Given the description of an element on the screen output the (x, y) to click on. 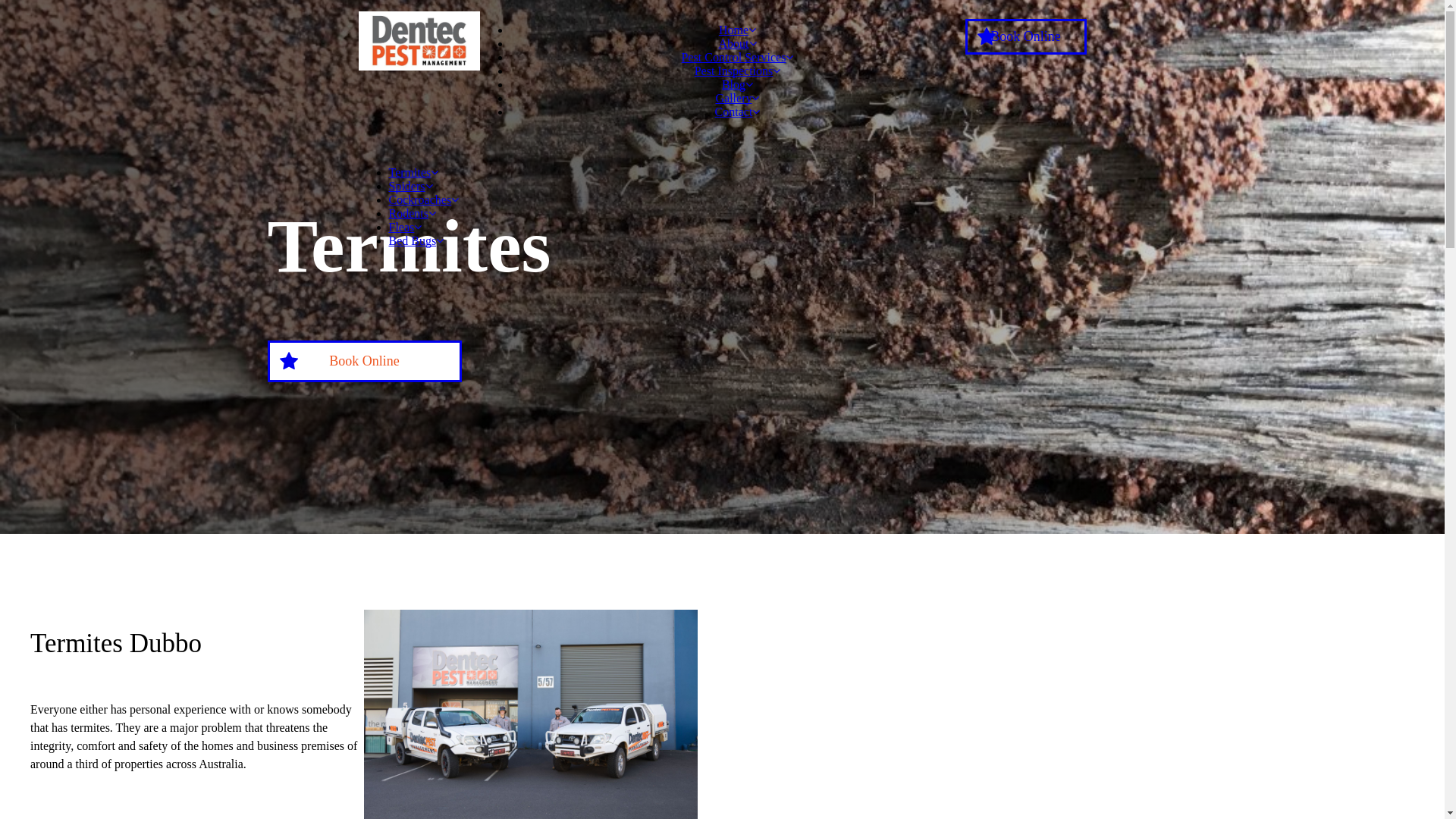
Rodents Element type: text (411, 213)
Pest Inspections Element type: text (737, 70)
Pest Control Services Element type: text (737, 56)
Termites Element type: text (413, 172)
Bed Bugs Element type: text (415, 240)
Gallery Element type: text (737, 97)
Book Online Element type: text (1024, 36)
Spiders Element type: text (410, 185)
Blog Element type: text (737, 84)
Book Online Element type: text (363, 361)
Contact Element type: text (737, 111)
Cockroaches Element type: text (423, 199)
Home Element type: text (737, 29)
Fleas Element type: text (404, 226)
About Element type: text (737, 43)
